Given the description of an element on the screen output the (x, y) to click on. 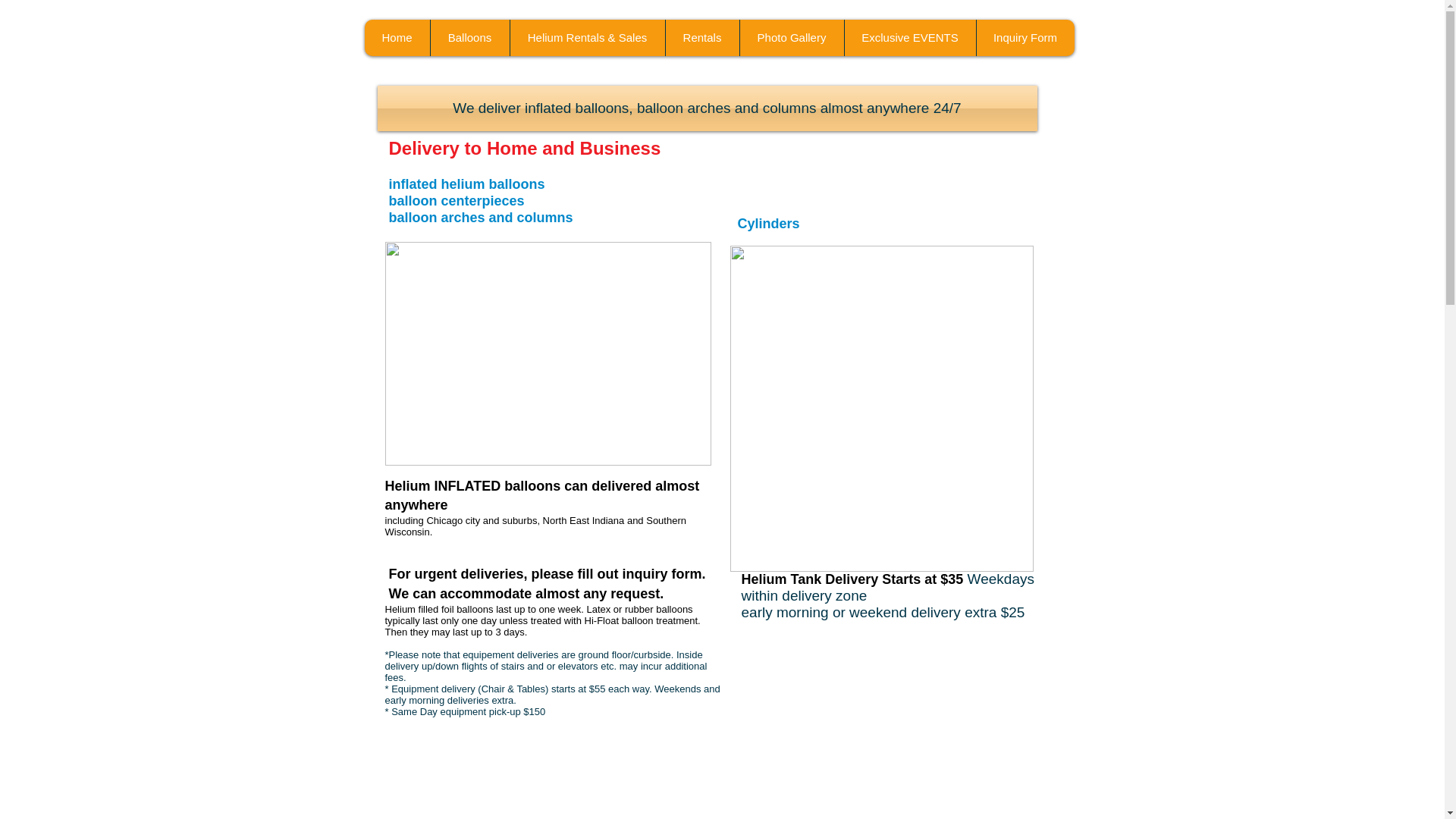
Inquiry Form (1024, 37)
Photo Gallery (790, 37)
Exclusive EVENTS (909, 37)
Rentals (700, 37)
Balloons (468, 37)
Home (396, 37)
